Given the description of an element on the screen output the (x, y) to click on. 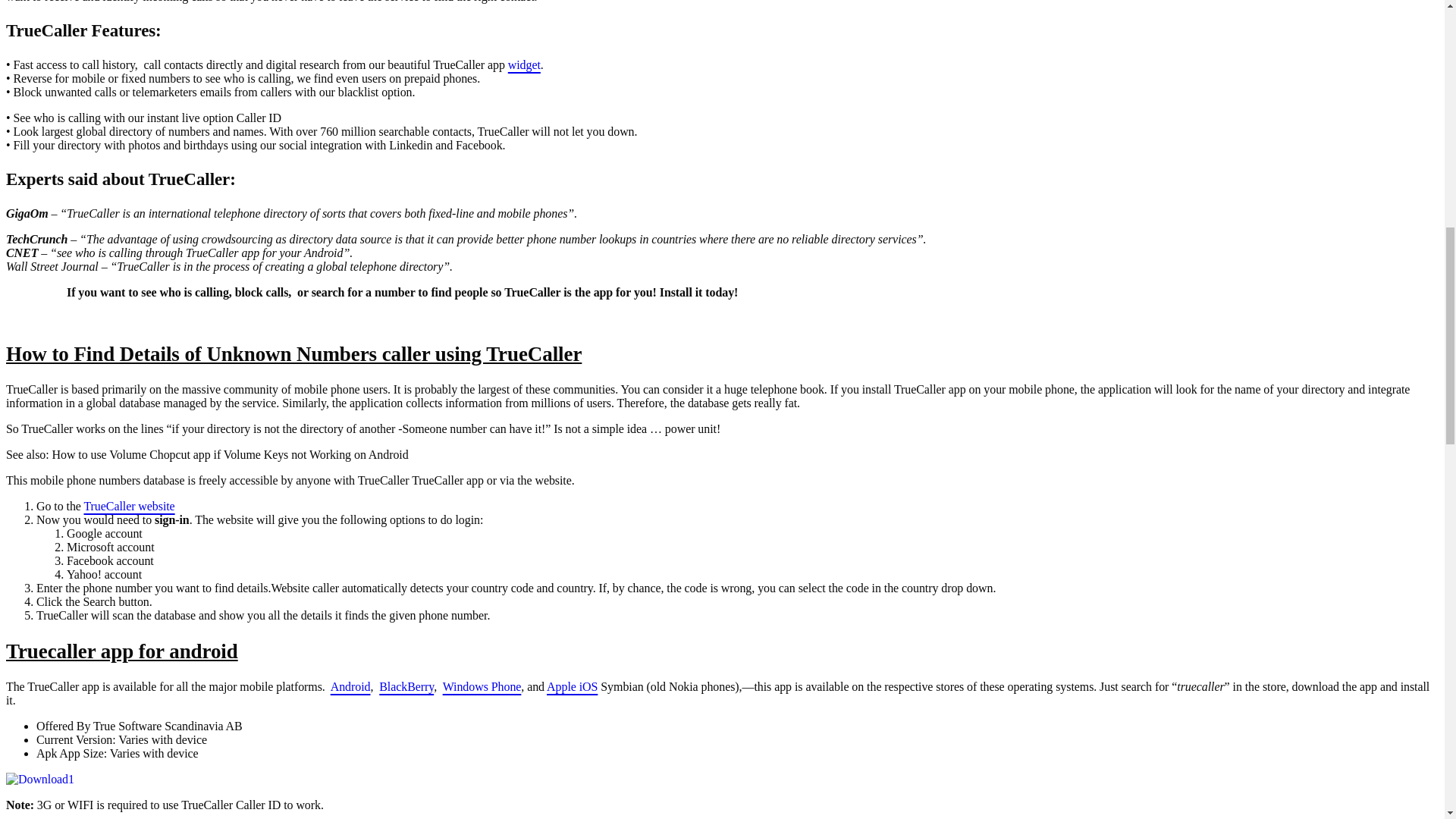
BlackBerry (405, 686)
widget (524, 64)
TrueCaller website (128, 505)
Windows Phone (481, 686)
Apple iOS (571, 686)
Android (350, 686)
